Given the description of an element on the screen output the (x, y) to click on. 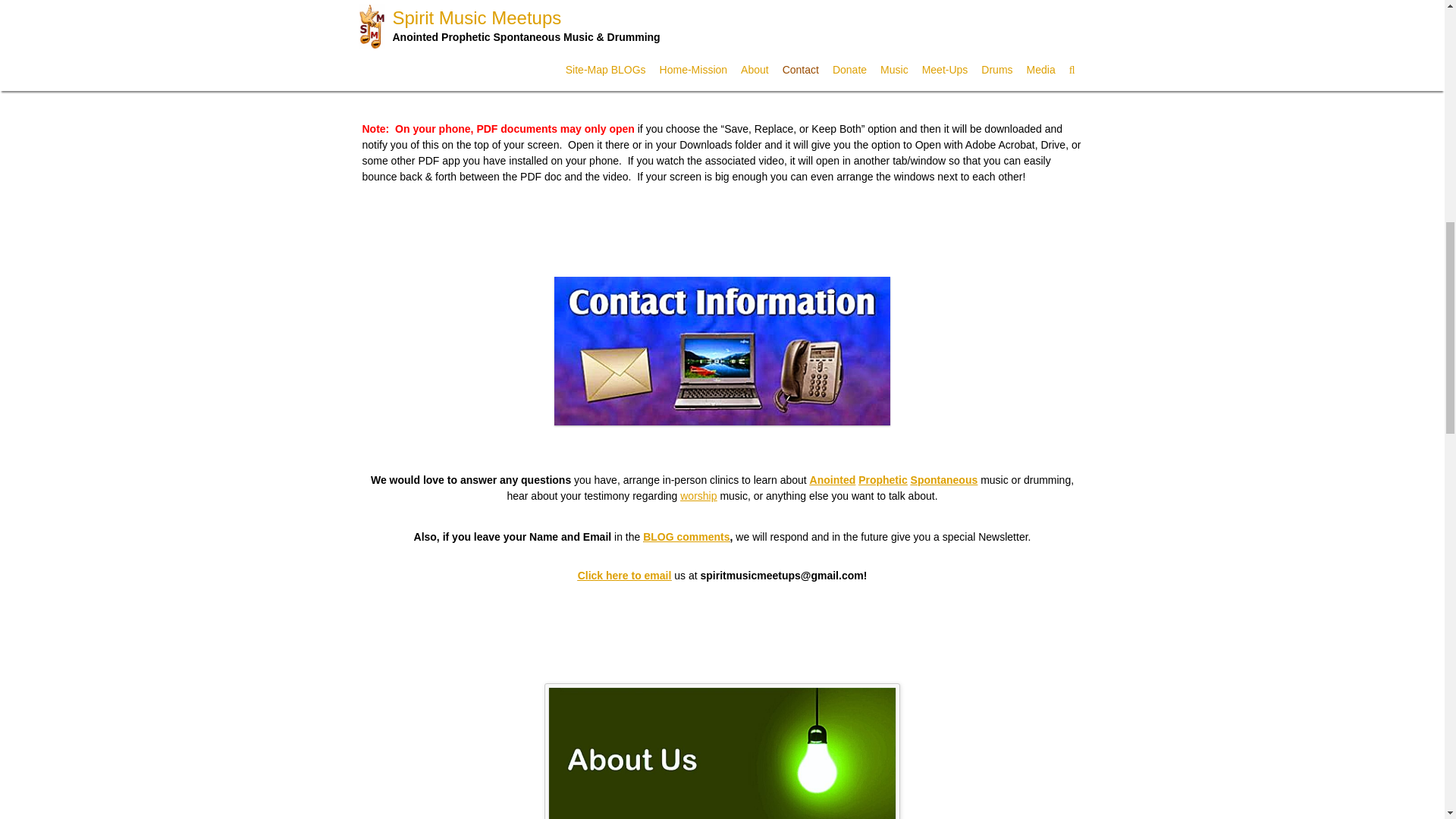
BLOG Etiquette Guidelines (862, 67)
All of our Media info, photos, and videos (722, 26)
BLOG comments (686, 536)
Prophetic (883, 479)
Spontaneous (944, 479)
Click here to email (624, 574)
worship (697, 495)
Anointed (832, 479)
